Given the description of an element on the screen output the (x, y) to click on. 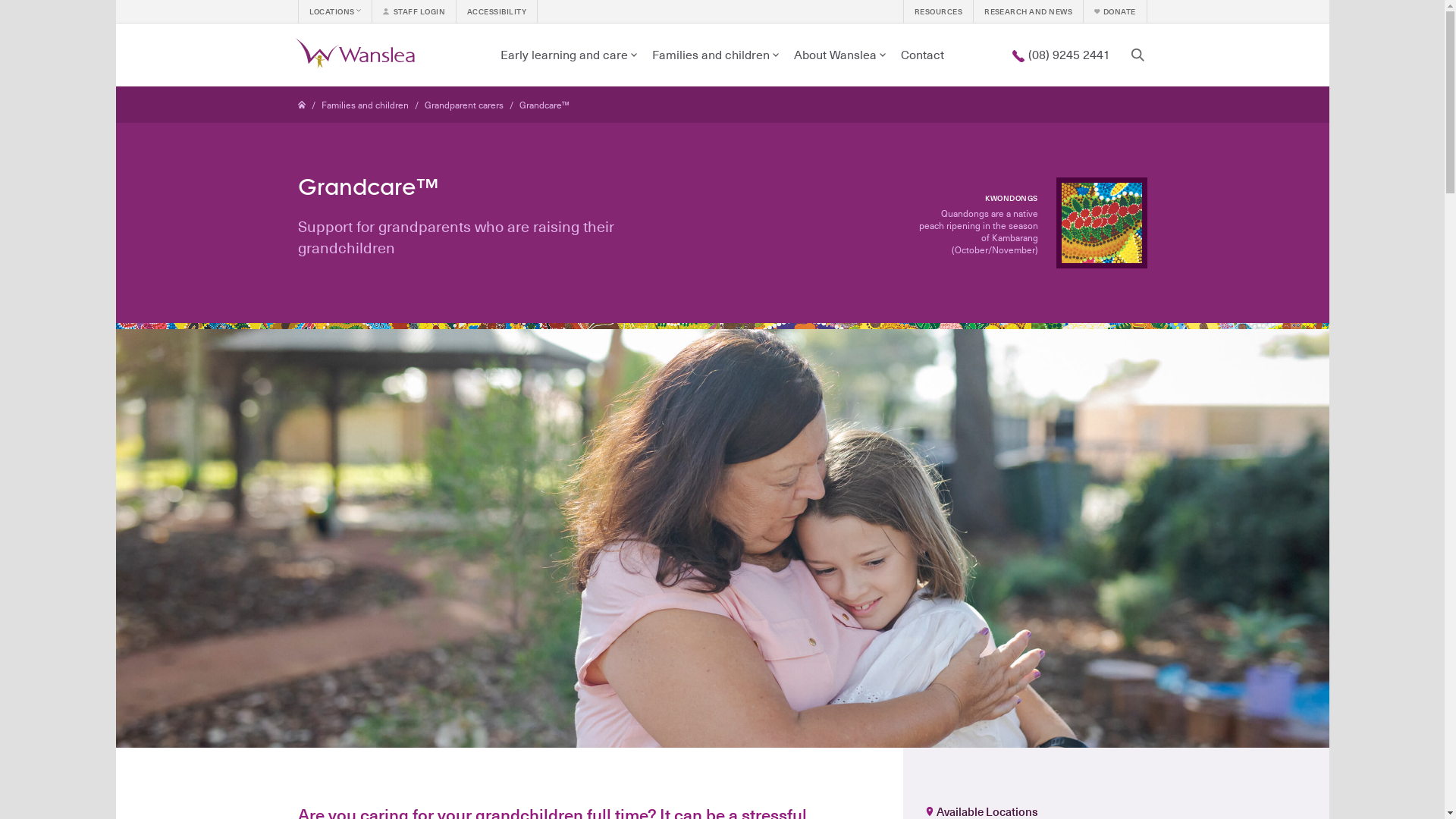
RESEARCH AND NEWS Element type: text (1027, 11)
STAFF LOGIN Element type: text (413, 11)
Families and children Element type: text (364, 104)
RESOURCES Element type: text (937, 11)
ACCESSIBILITY Element type: text (496, 11)
DONATE Element type: text (1114, 11)
(08) 9245 2441 Element type: text (1060, 54)
Contact Element type: text (922, 54)
